Given the description of an element on the screen output the (x, y) to click on. 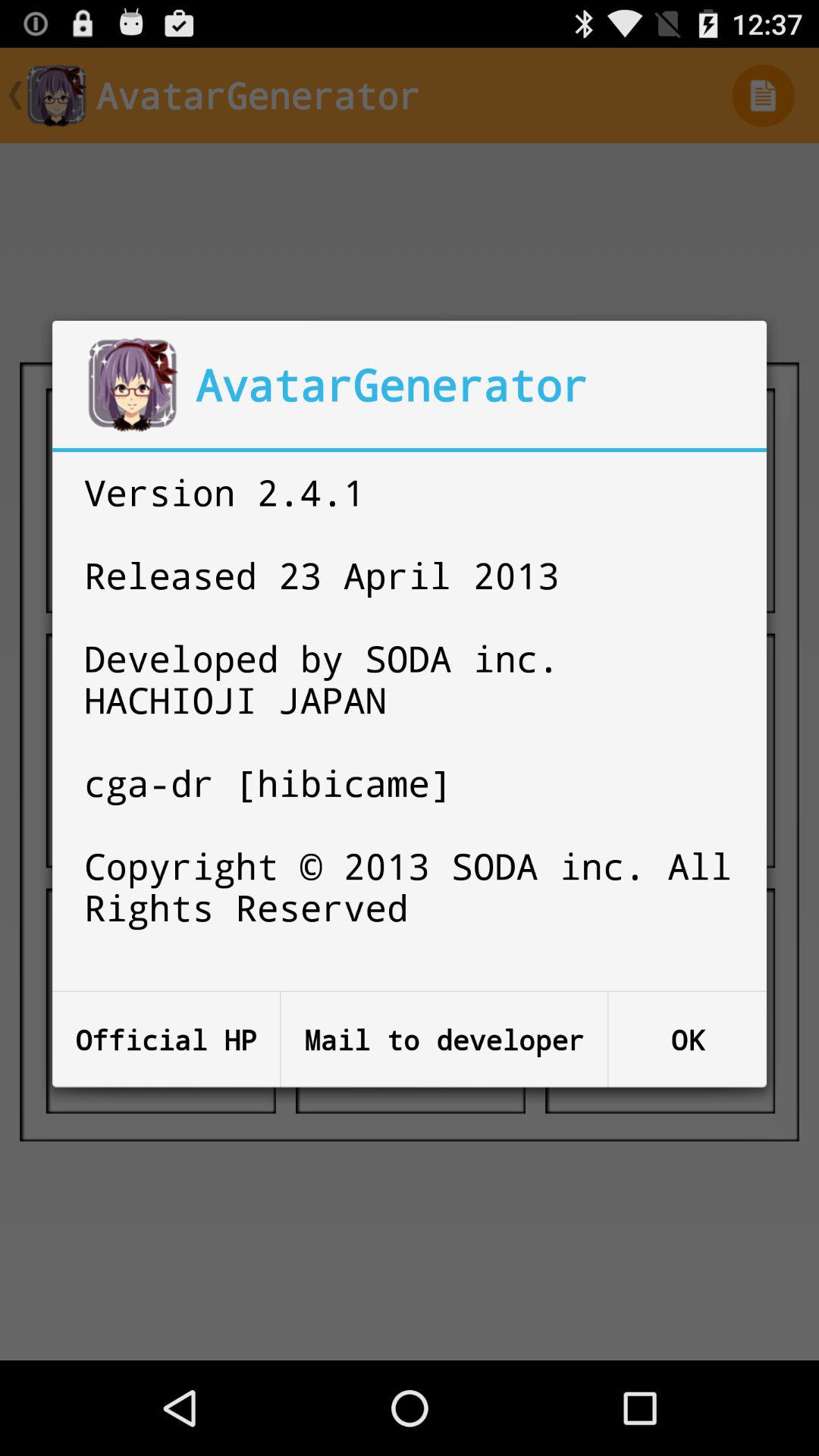
open the item at the bottom right corner (687, 1039)
